Given the description of an element on the screen output the (x, y) to click on. 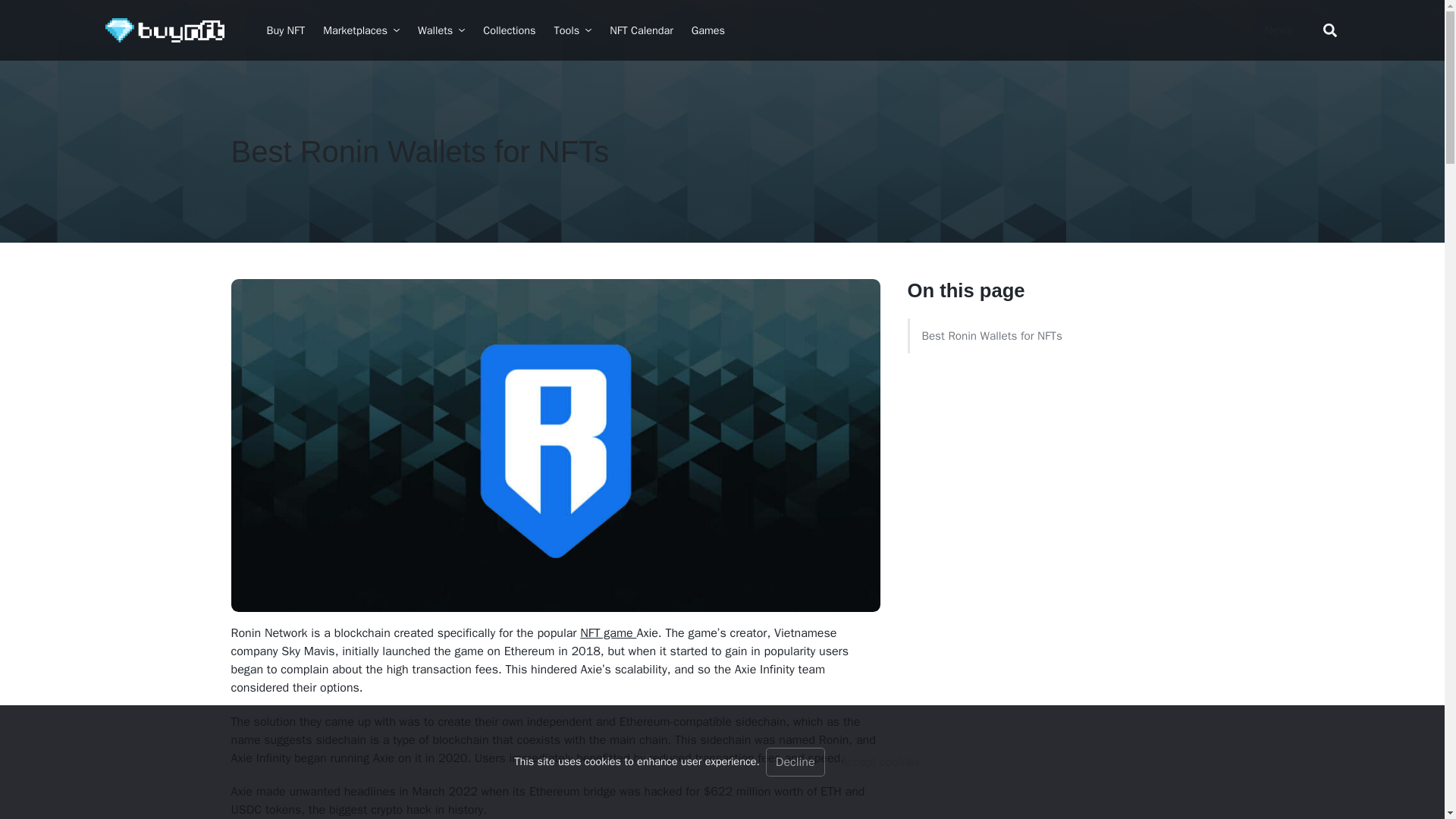
Games (708, 29)
Buy NFT (285, 29)
Collections (509, 29)
NFT Calendar (641, 29)
News (1278, 29)
Marketplaces (360, 29)
Tools (572, 29)
Wallets (440, 29)
